Given the description of an element on the screen output the (x, y) to click on. 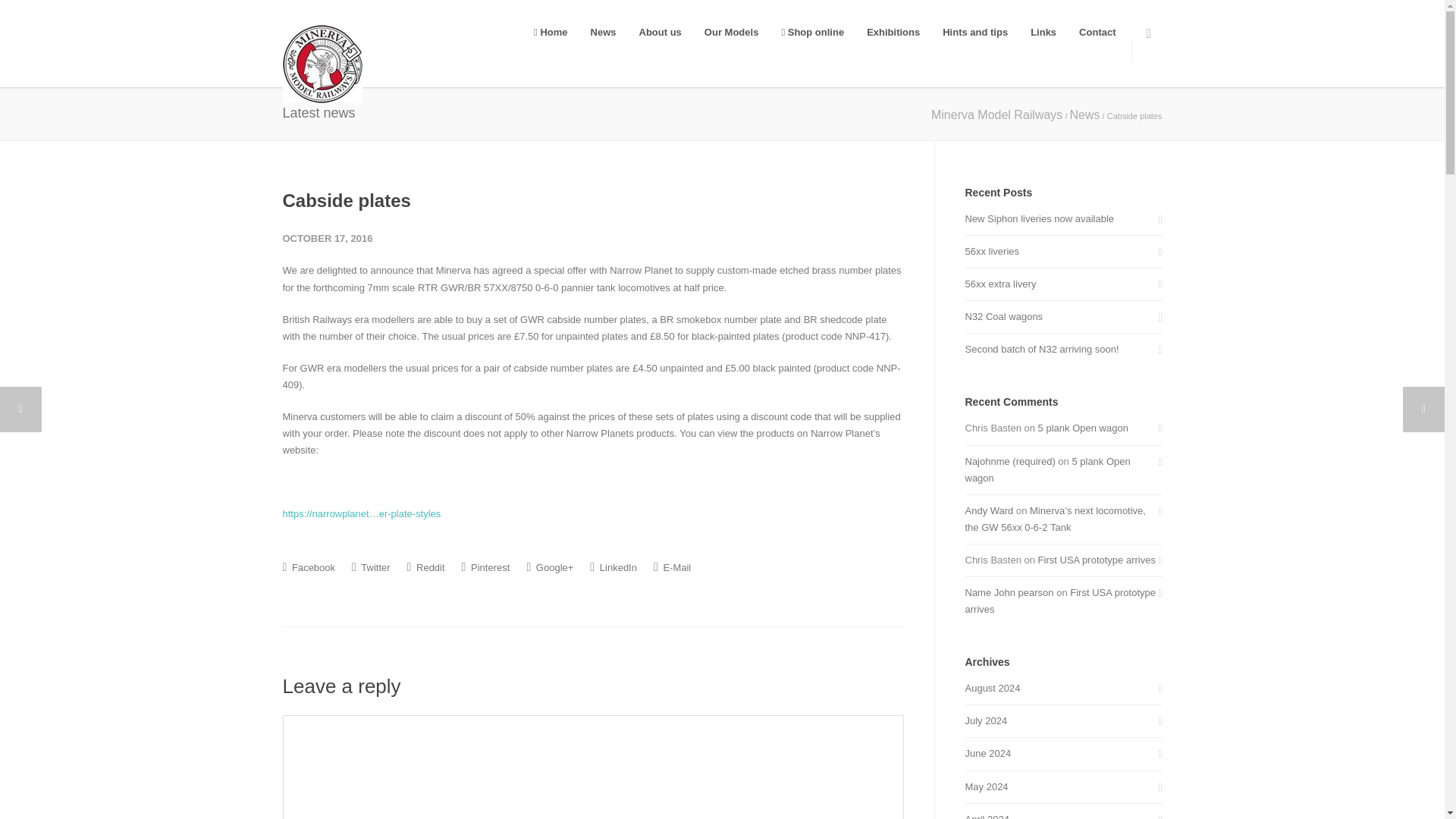
Home (550, 32)
External link (361, 513)
Minerva Model Railways (996, 114)
Share via LinkedIn (613, 566)
Share via Facebook (308, 566)
Our Models (731, 32)
Share via Tumblr (426, 566)
Share via Pinterest (486, 566)
Share via E-Mail (671, 566)
News (603, 32)
